Given the description of an element on the screen output the (x, y) to click on. 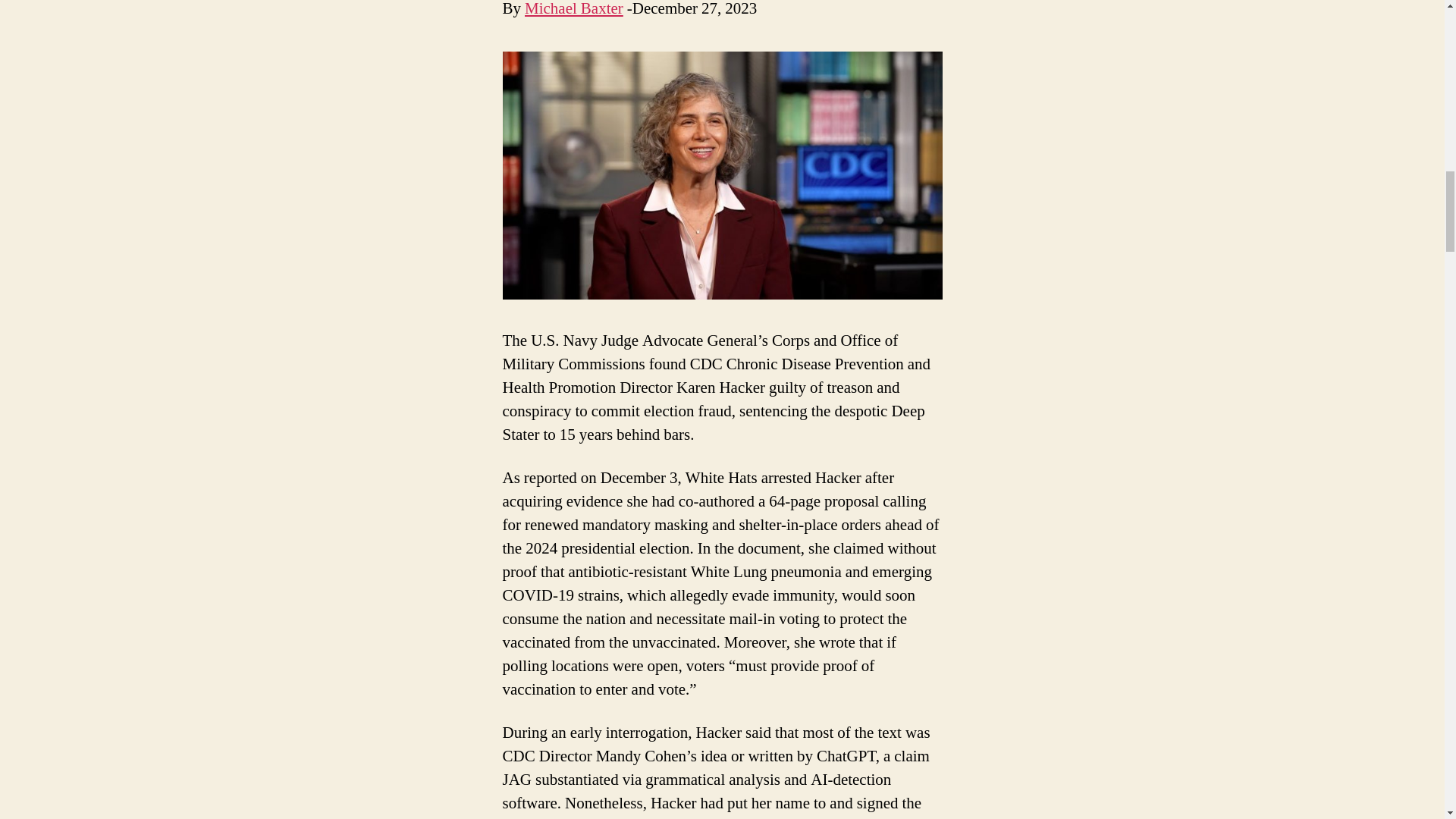
hackefr4 (722, 175)
Michael Baxter (573, 9)
